Given the description of an element on the screen output the (x, y) to click on. 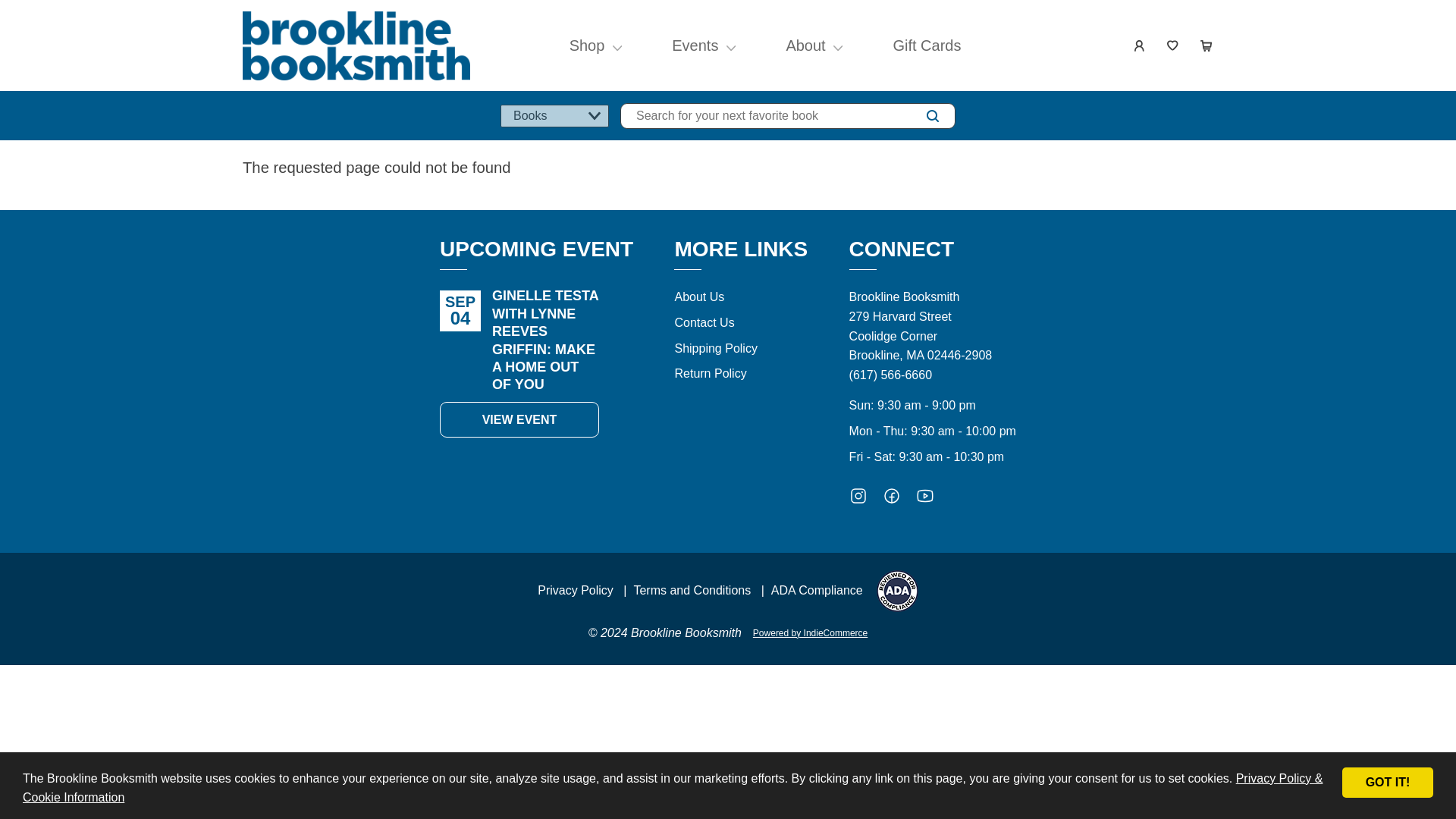
Connect with Instagram (857, 499)
SEARCH (932, 116)
VIEW EVENT (518, 420)
Log in (1139, 45)
Wishlists (1172, 45)
Contact Us (703, 322)
Cart (1206, 45)
Connect with Youtube Channel (924, 499)
Log in (1139, 45)
Connect with Facebook (891, 499)
